Given the description of an element on the screen output the (x, y) to click on. 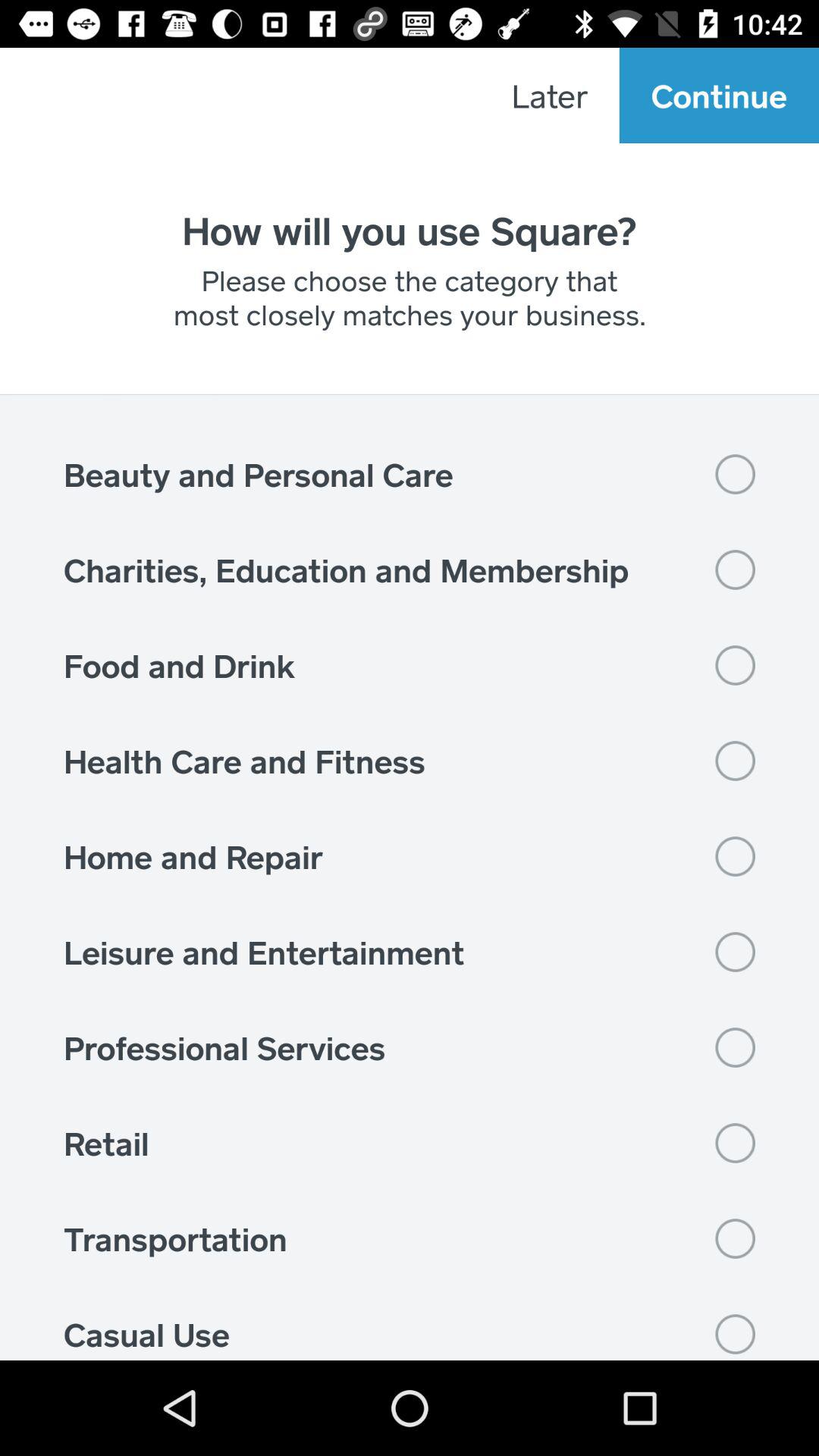
flip to the later (549, 95)
